Given the description of an element on the screen output the (x, y) to click on. 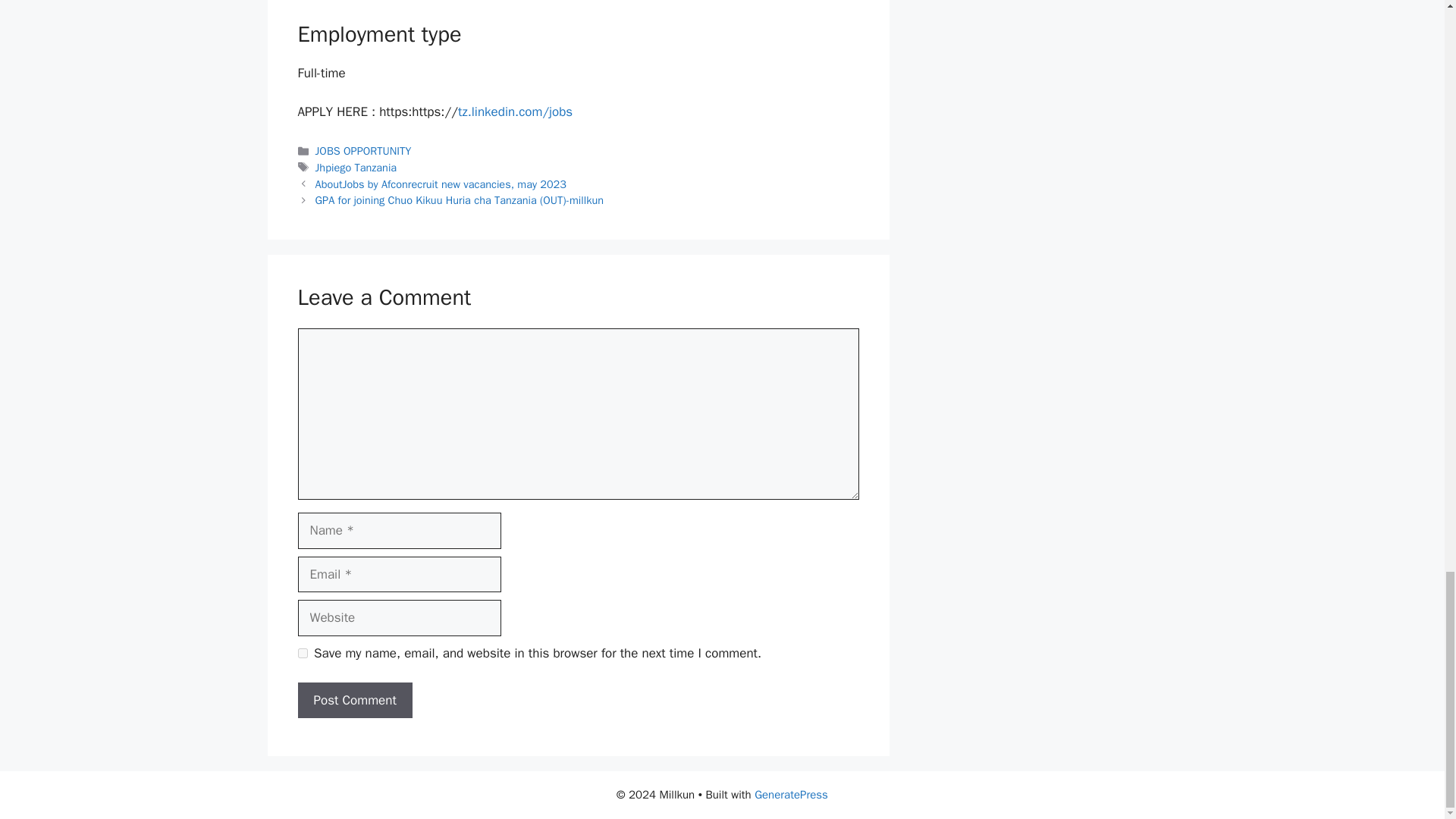
yes (302, 653)
GeneratePress (791, 794)
AboutJobs by Afconrecruit new vacancies, may 2023 (440, 183)
Post Comment (354, 700)
Post Comment (354, 700)
JOBS OPPORTUNITY (363, 151)
Jhpiego Tanzania (356, 167)
